Given the description of an element on the screen output the (x, y) to click on. 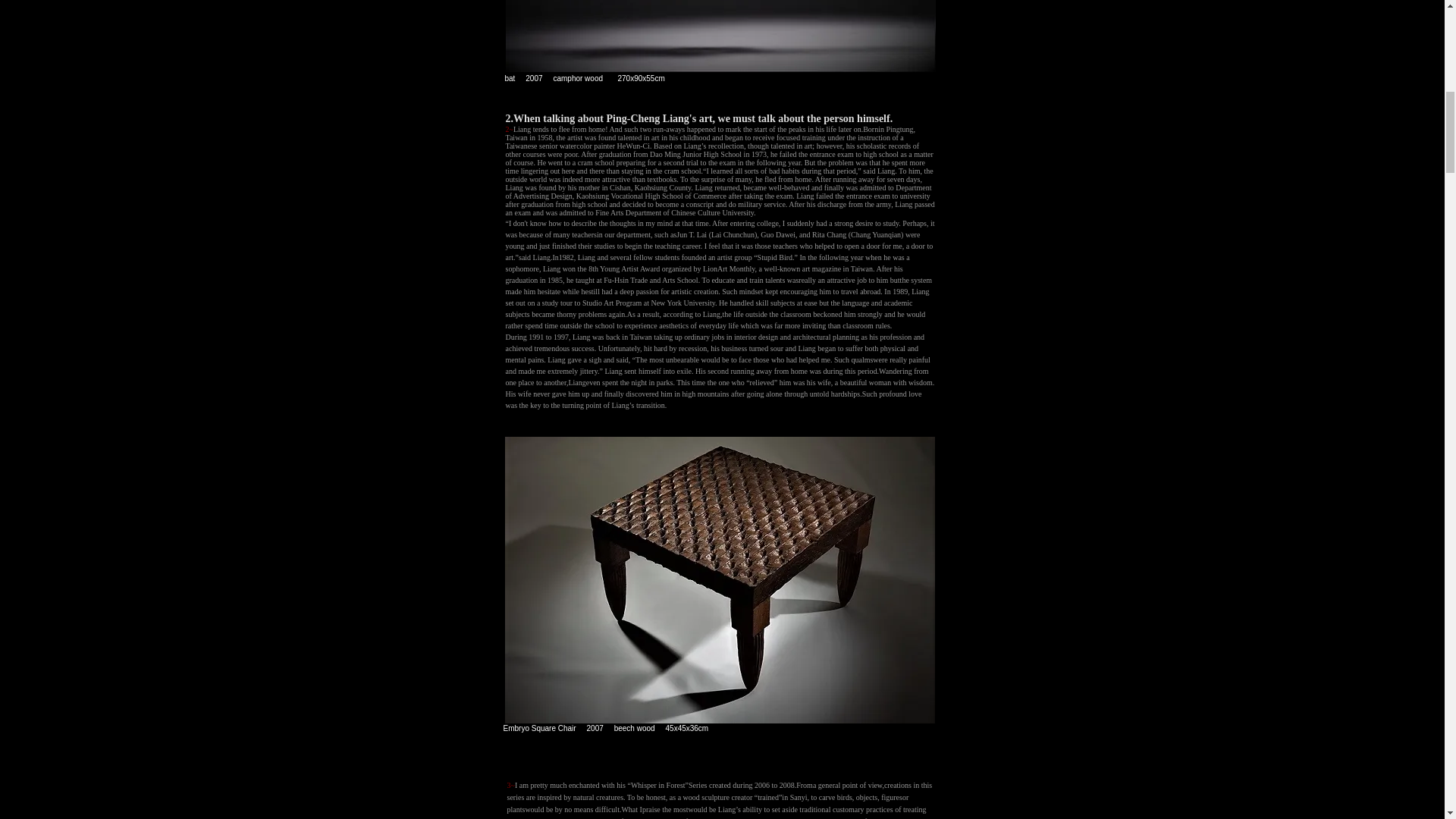
f01.jpg (719, 579)
f01.jpg (719, 36)
